Given the description of an element on the screen output the (x, y) to click on. 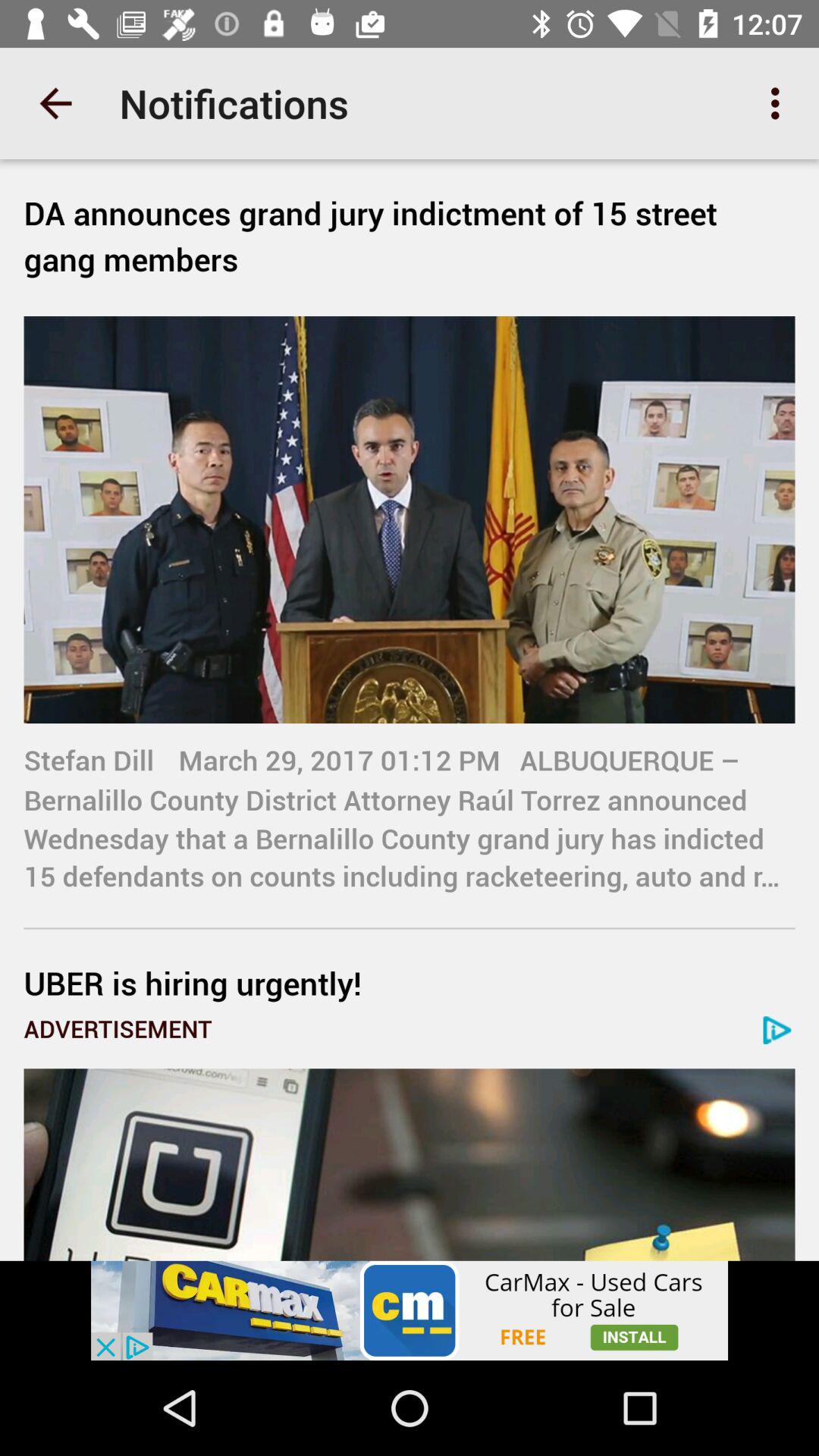
swipe until uber is hiring icon (409, 982)
